Given the description of an element on the screen output the (x, y) to click on. 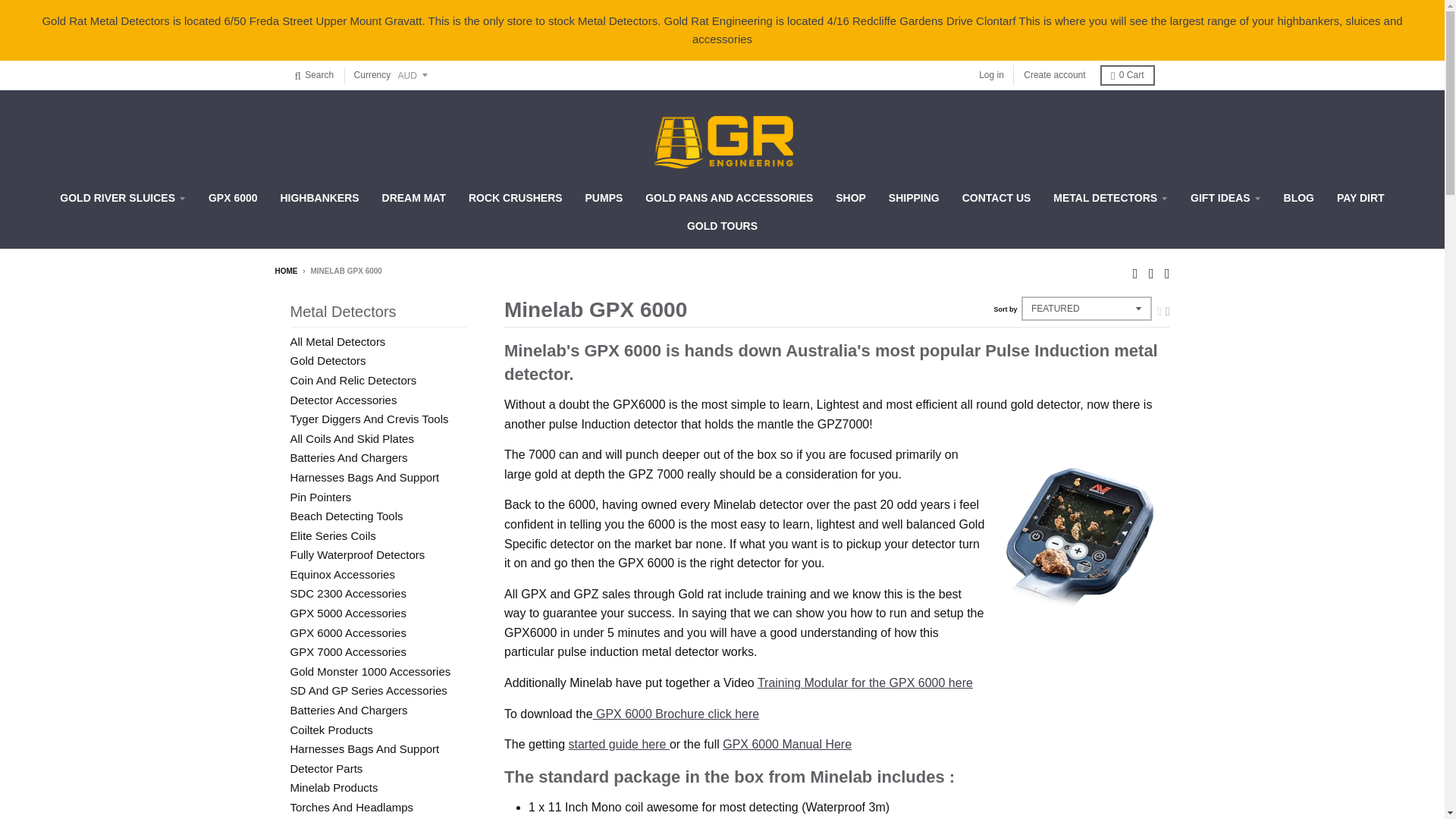
Create account (1054, 75)
METAL DETECTORS (1110, 197)
GIFT IDEAS (1225, 197)
BLOG (1298, 197)
GOLD RIVER SLUICES (122, 197)
GOLD PANS AND ACCESSORIES (728, 197)
PUMPS (604, 197)
SHIPPING (914, 197)
CONTACT US (996, 197)
Search (313, 75)
GOLD TOURS (722, 225)
Log in (991, 75)
0 Cart (1127, 75)
HIGHBANKERS (318, 197)
SHOP (850, 197)
